Given the description of an element on the screen output the (x, y) to click on. 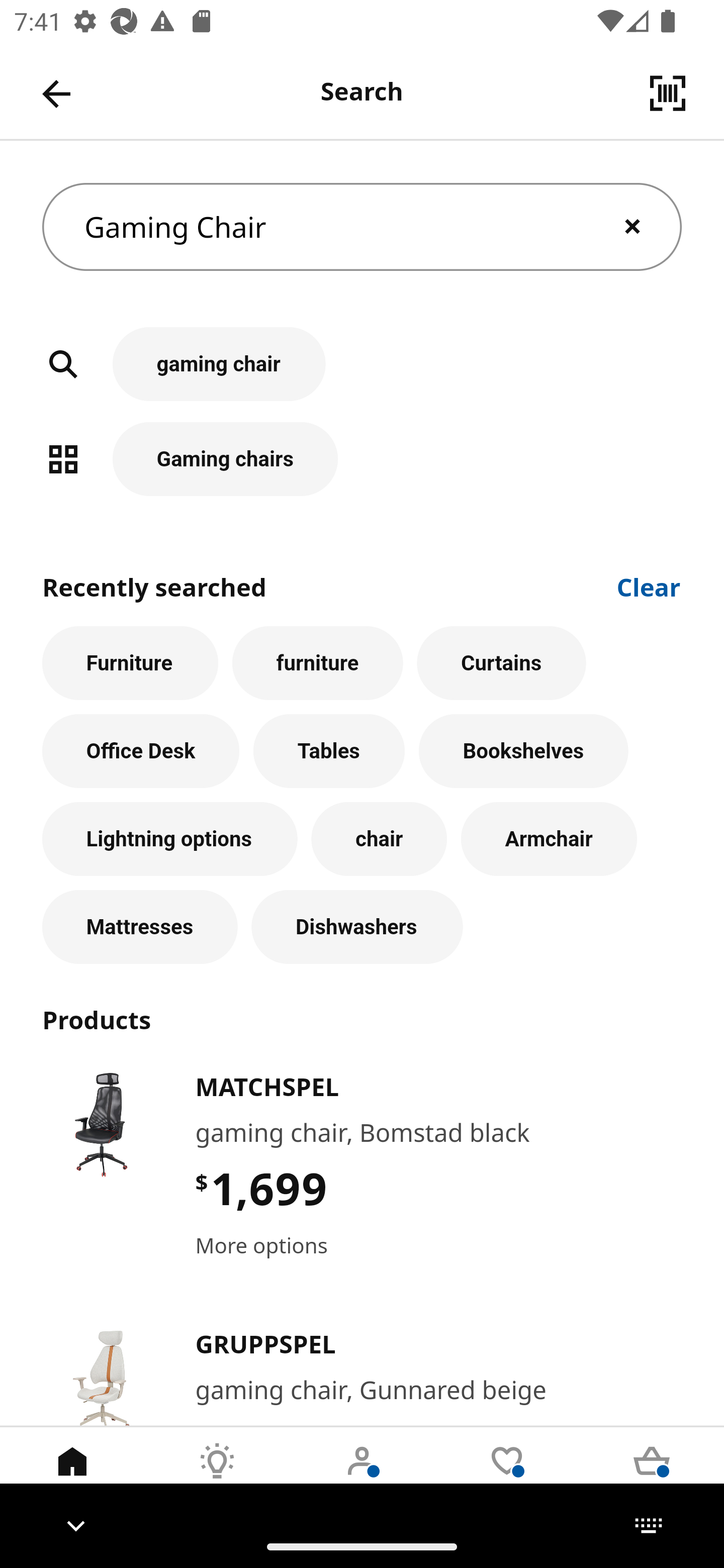
Gaming Chair (361, 227)
gaming chair (361, 374)
Gaming chairs (361, 458)
Clear (649, 585)
Furniture (129, 662)
furniture (317, 662)
Curtains (501, 662)
Office Desk (140, 750)
Tables (328, 750)
Bookshelves (523, 750)
Lightning options (169, 839)
chair (379, 839)
Armchair (549, 839)
Mattresses (139, 927)
Dishwashers (357, 927)
Home
Tab 1 of 5 (72, 1476)
Inspirations
Tab 2 of 5 (216, 1476)
User
Tab 3 of 5 (361, 1476)
Wishlist
Tab 4 of 5 (506, 1476)
Cart
Tab 5 of 5 (651, 1476)
